Given the description of an element on the screen output the (x, y) to click on. 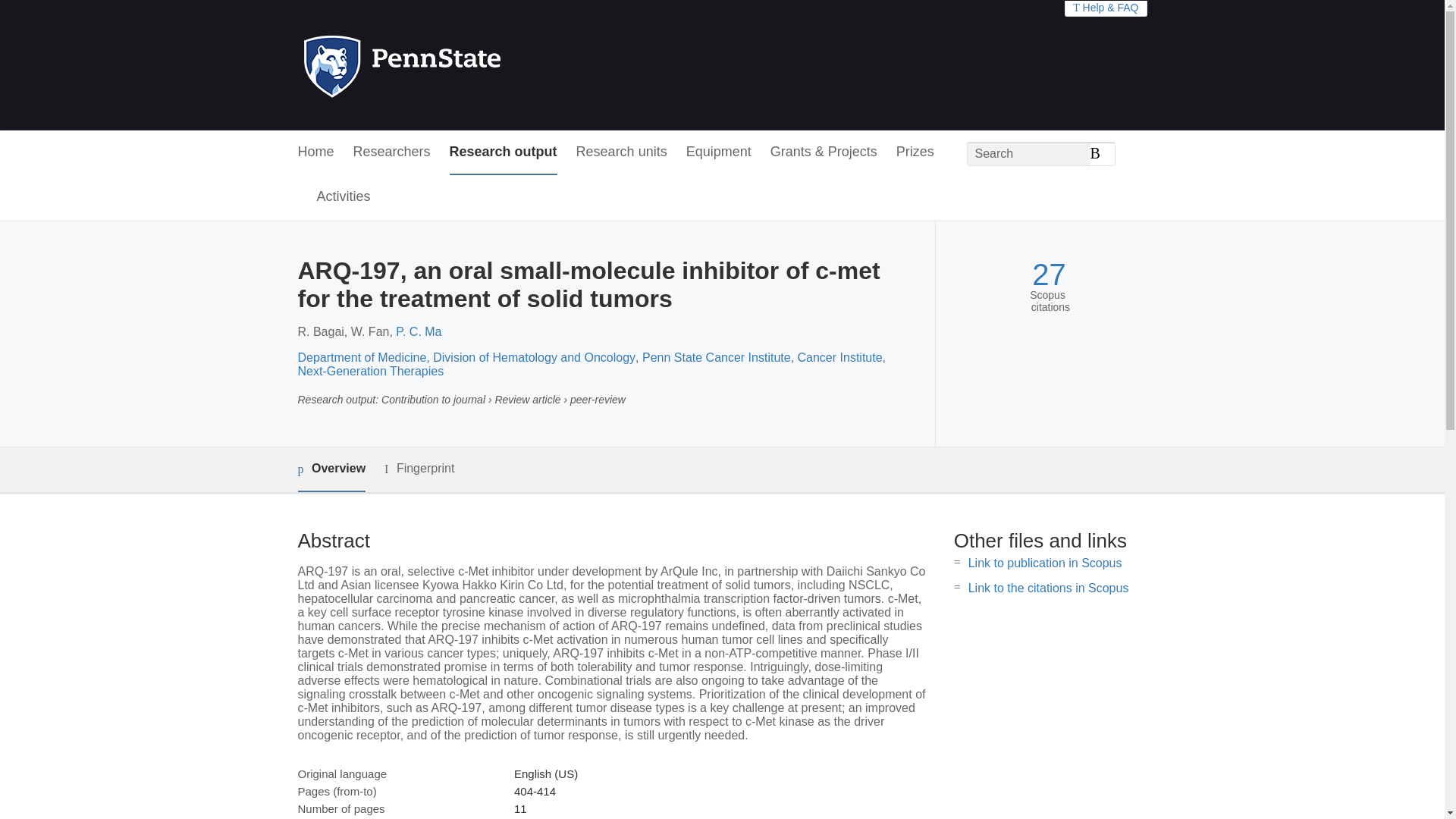
Equipment (718, 152)
Activities (344, 197)
Fingerprint (419, 468)
Researchers (391, 152)
Division of Hematology and Oncology (533, 357)
Cancer Institute, Next-Generation Therapies (591, 364)
Department of Medicine (361, 357)
Penn State Home (467, 65)
Research units (621, 152)
